Given the description of an element on the screen output the (x, y) to click on. 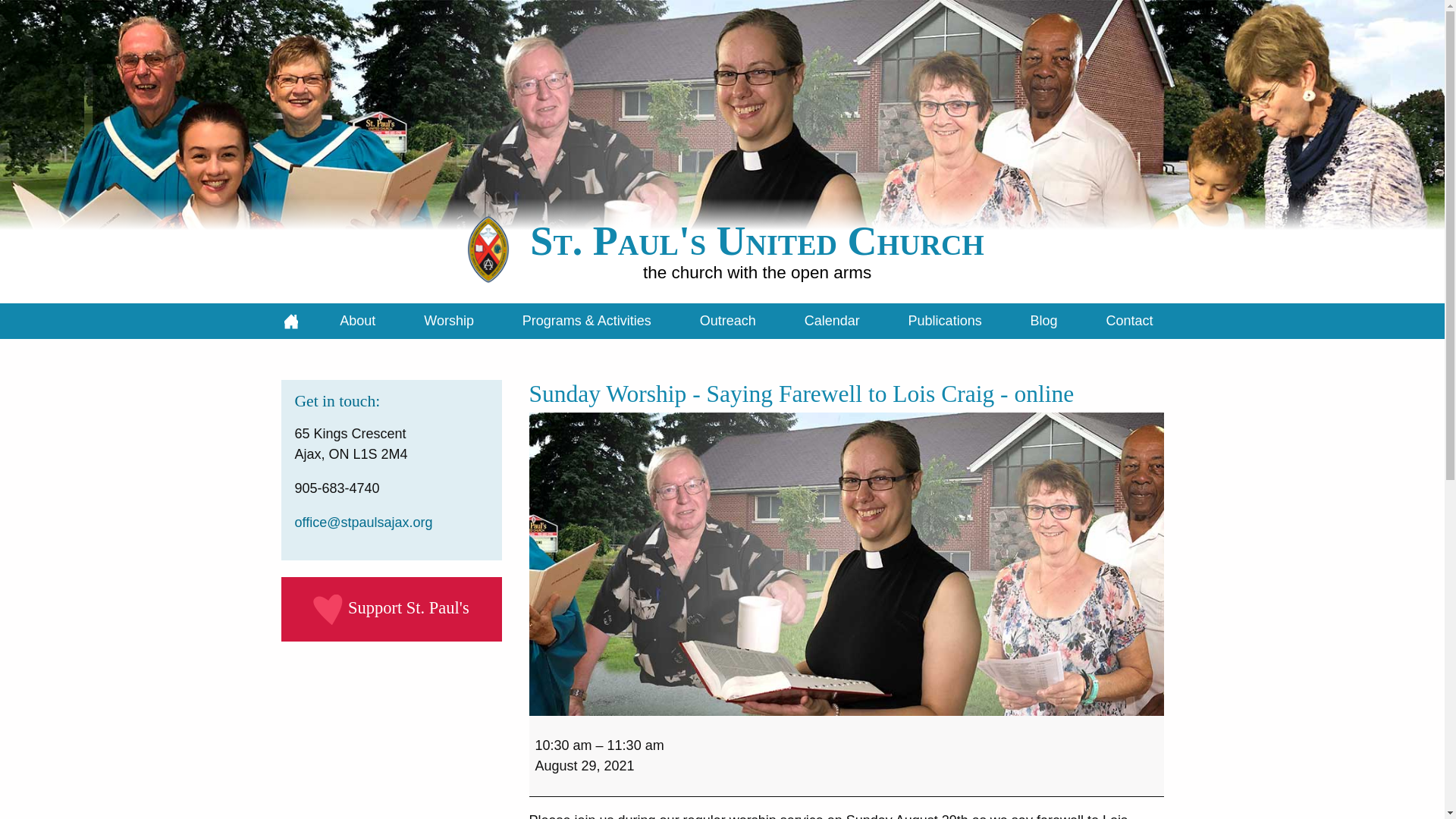
Worship (448, 320)
2021-08-29T10:30:00-04:00 (563, 744)
Contact (1128, 320)
Publications (944, 320)
Blog (1043, 320)
2021-08-29T10:30:00-04:00 (584, 765)
Outreach (727, 320)
2021-08-29T11:30:00-04:00 (635, 744)
Calendar (831, 320)
Home (290, 320)
Support St. Paul's (407, 607)
About (357, 320)
